Given the description of an element on the screen output the (x, y) to click on. 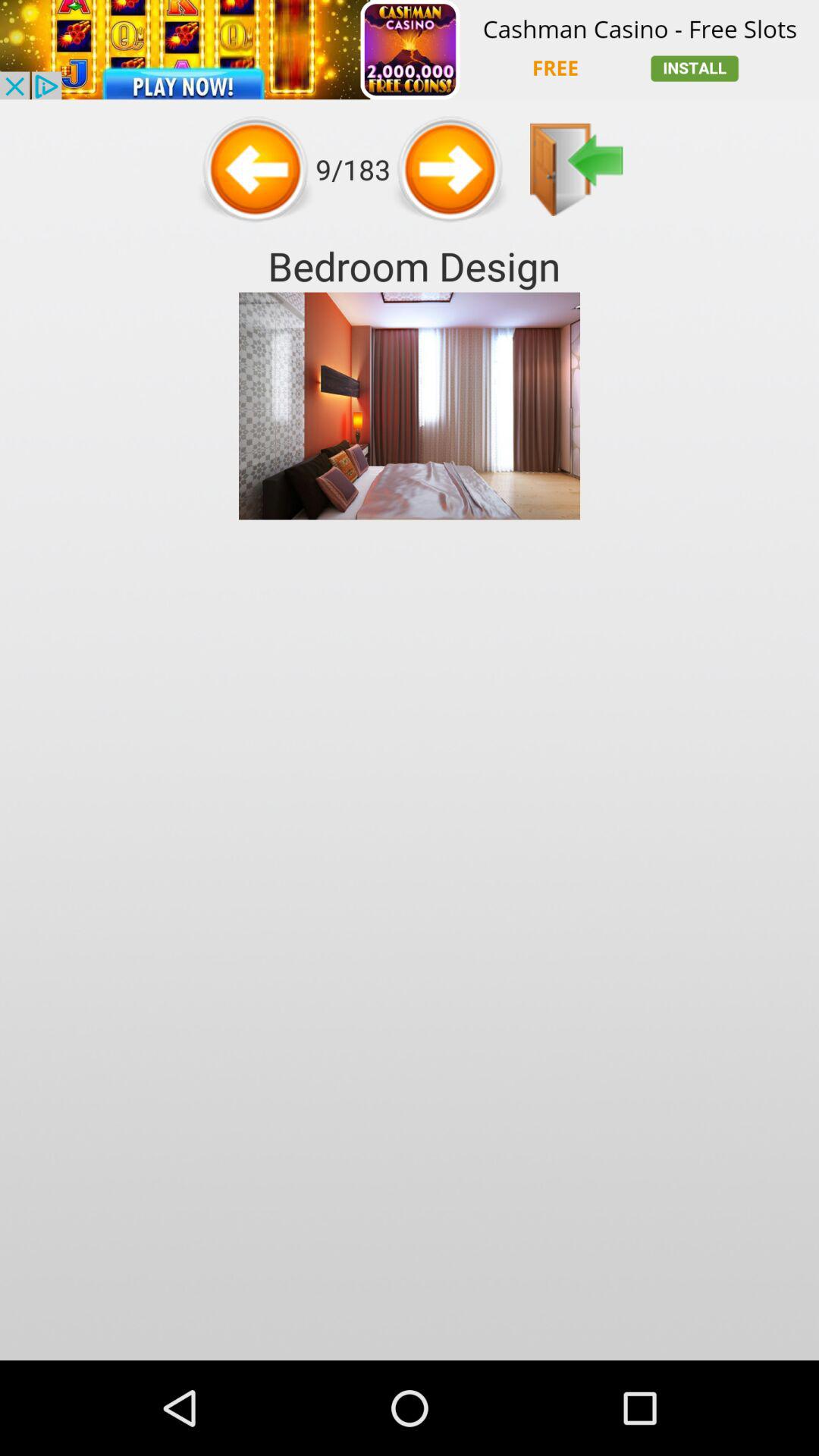
to go previous (450, 169)
